Given the description of an element on the screen output the (x, y) to click on. 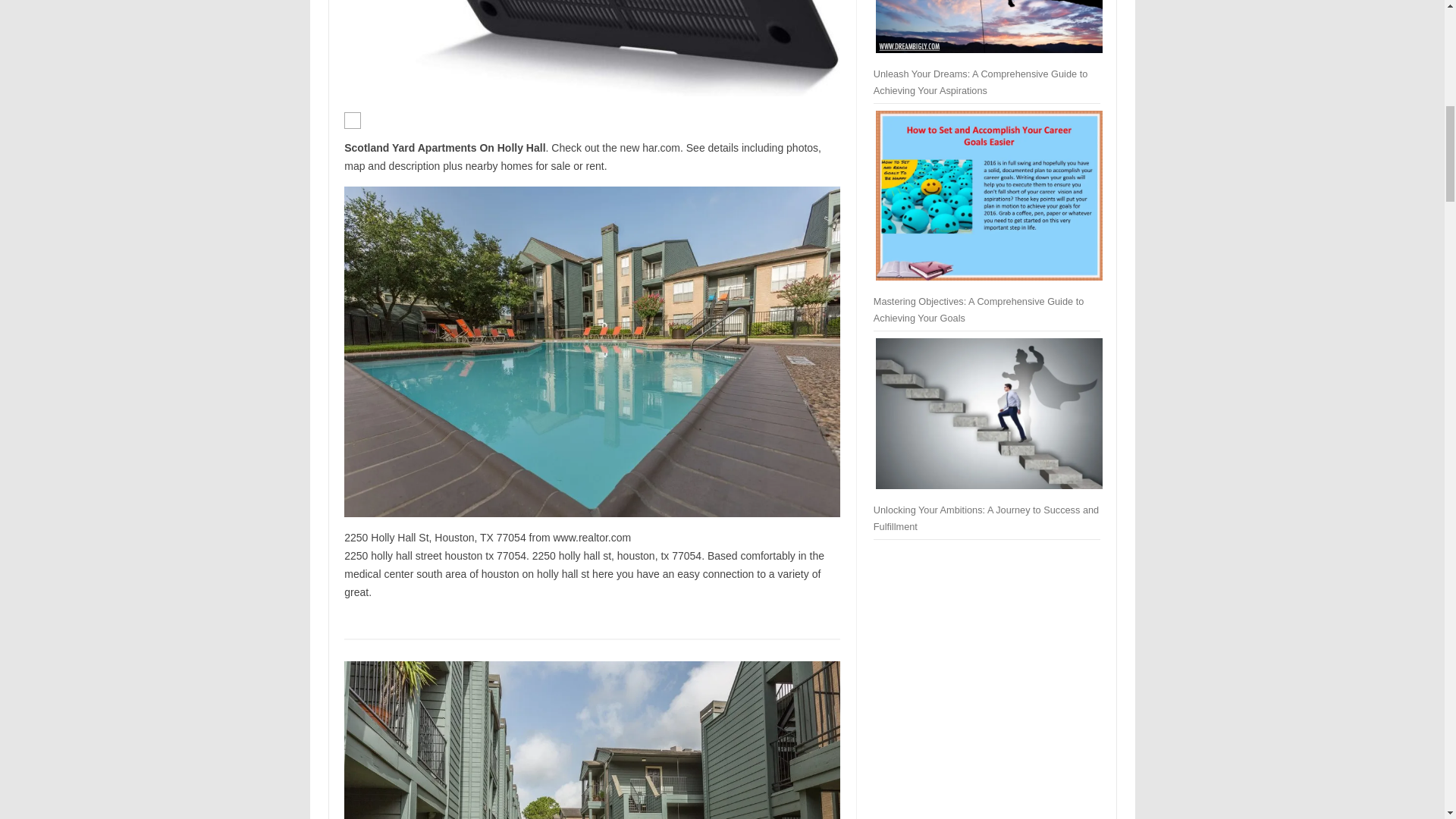
Scotland Yard Apartments On Holly Hall (591, 48)
